Given the description of an element on the screen output the (x, y) to click on. 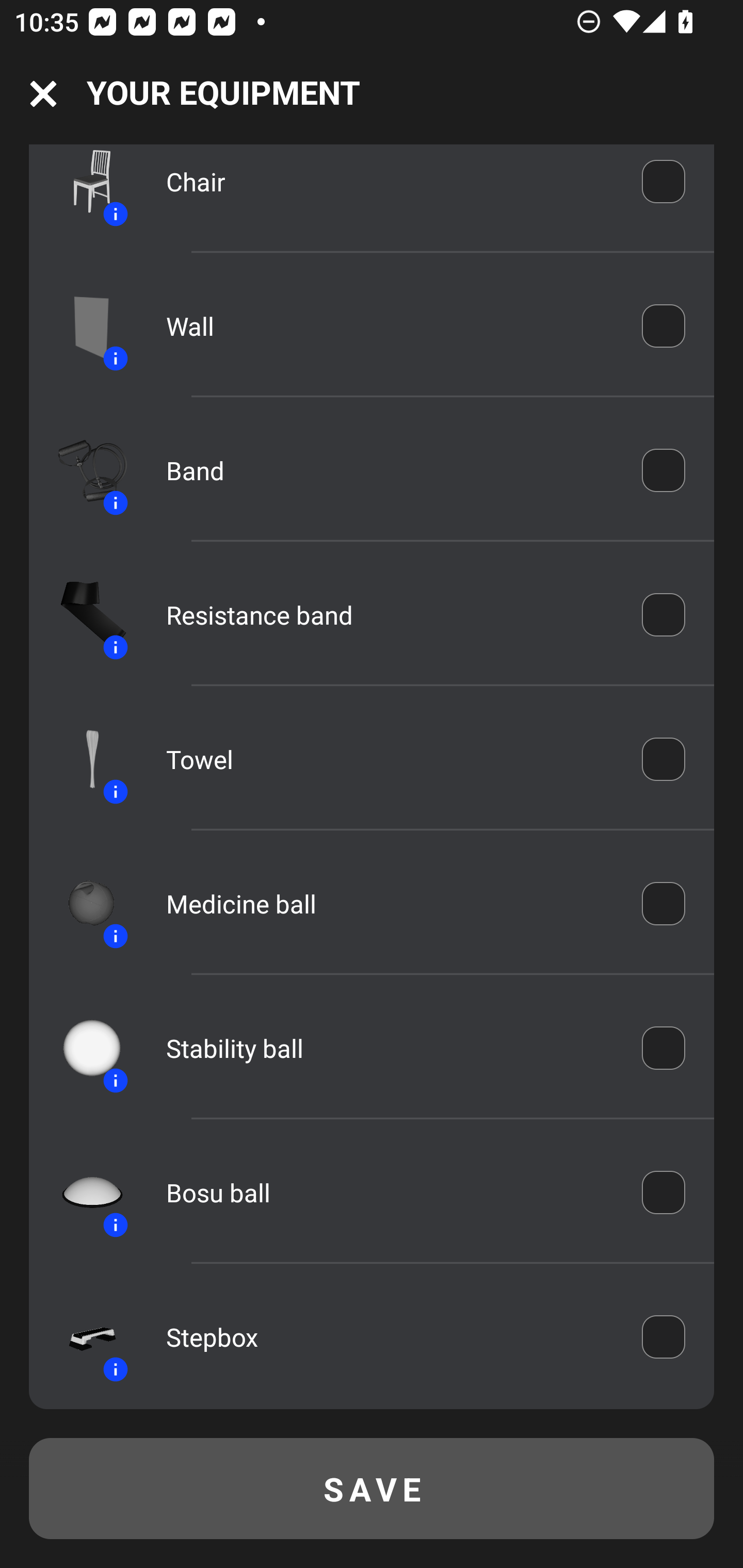
Navigation icon (43, 93)
Equipment icon Information icon (82, 189)
Chair (389, 184)
Equipment icon Information icon (82, 325)
Wall (389, 326)
Equipment icon Information icon (82, 470)
Band (389, 470)
Equipment icon Information icon (82, 615)
Resistance band (389, 614)
Equipment icon Information icon (82, 759)
Towel (389, 759)
Equipment icon Information icon (82, 903)
Medicine ball (389, 903)
Equipment icon Information icon (82, 1048)
Stability ball (389, 1048)
Equipment icon Information icon (82, 1192)
Bosu ball (389, 1192)
Equipment icon Information icon (82, 1336)
Stepbox (389, 1336)
SAVE (371, 1488)
